Given the description of an element on the screen output the (x, y) to click on. 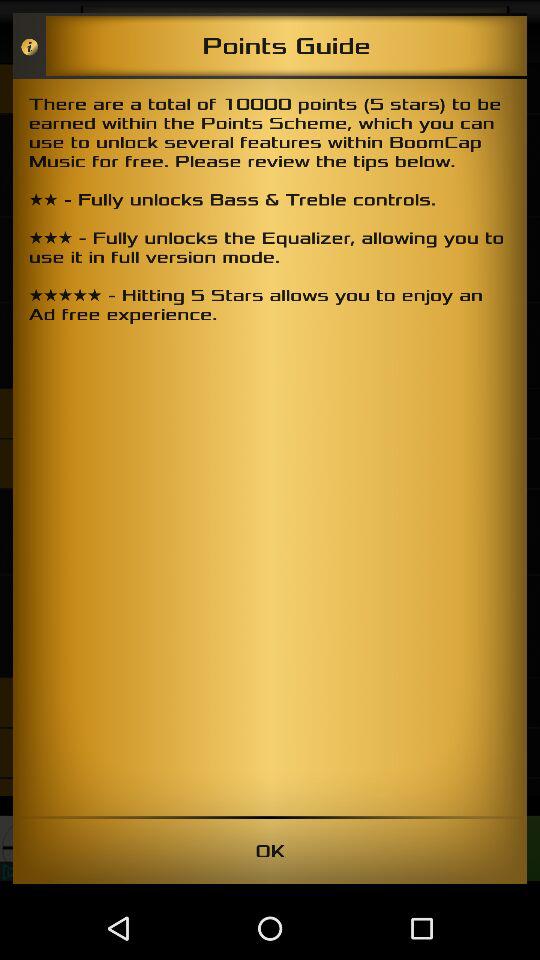
turn on there are a icon (269, 447)
